Given the description of an element on the screen output the (x, y) to click on. 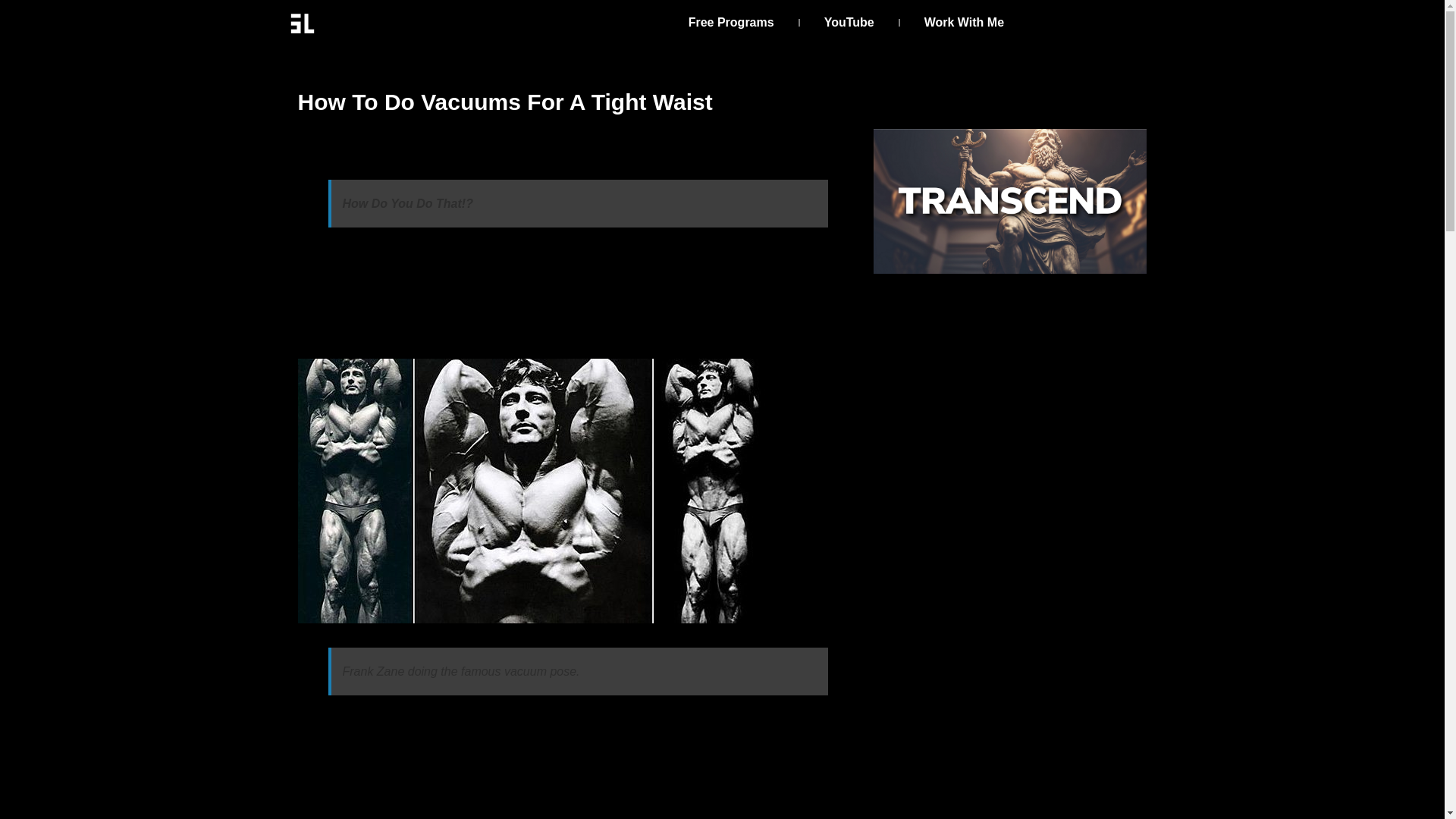
cropped-Favicon-Website-Logo-BlackWhite-1-1.png (301, 23)
Free Programs (731, 22)
Work With Me (964, 22)
YouTube (849, 22)
